Given the description of an element on the screen output the (x, y) to click on. 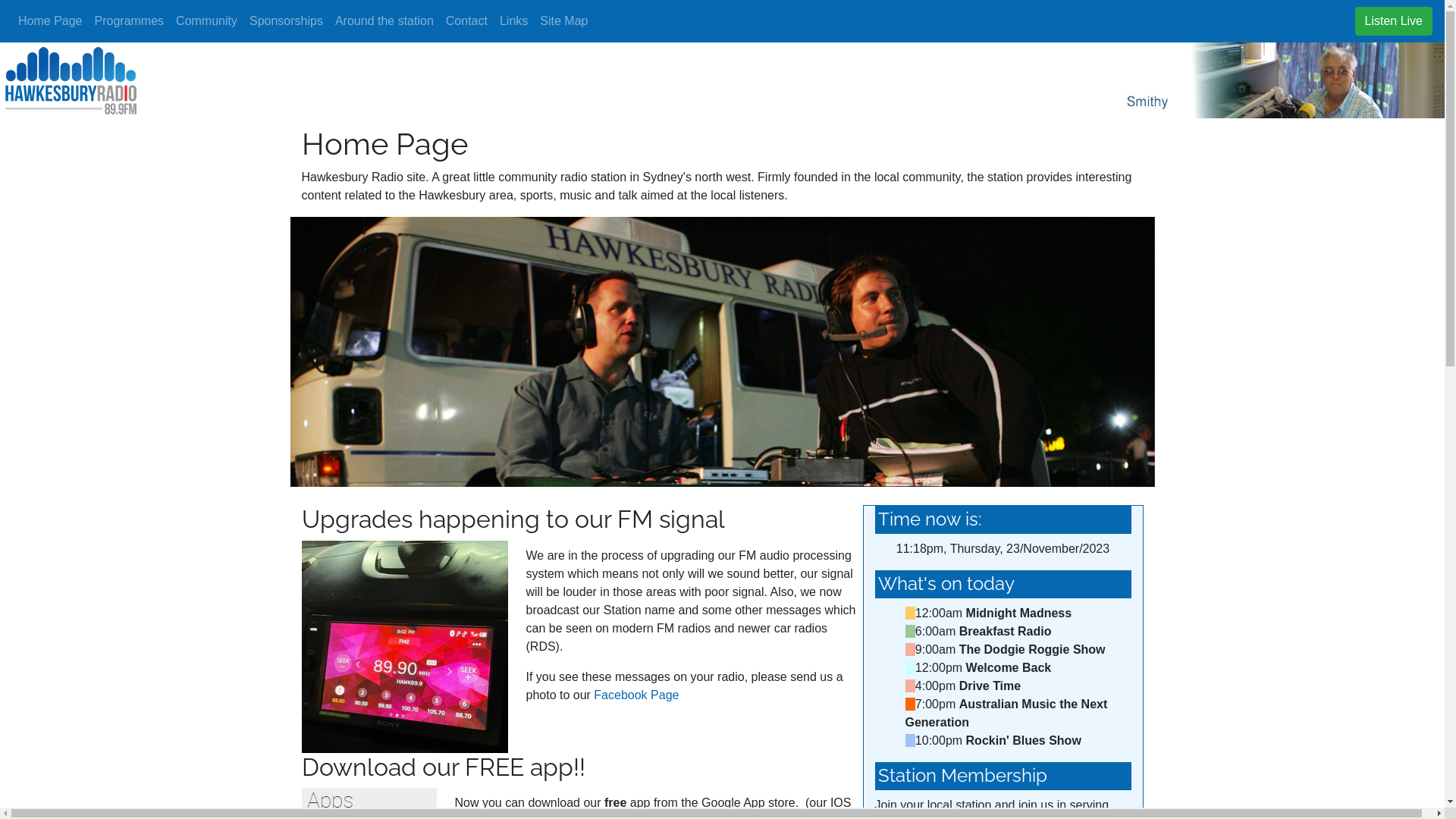
Site Map Element type: text (563, 21)
Facebook Page Element type: text (635, 694)
Community Element type: text (206, 21)
Listen Live Element type: text (1393, 20)
Links Element type: text (513, 21)
Sponsorships Element type: text (286, 21)
Home Page Element type: text (50, 21)
Programmes Element type: text (128, 21)
Around the station Element type: text (384, 21)
Contact Element type: text (466, 21)
